Given the description of an element on the screen output the (x, y) to click on. 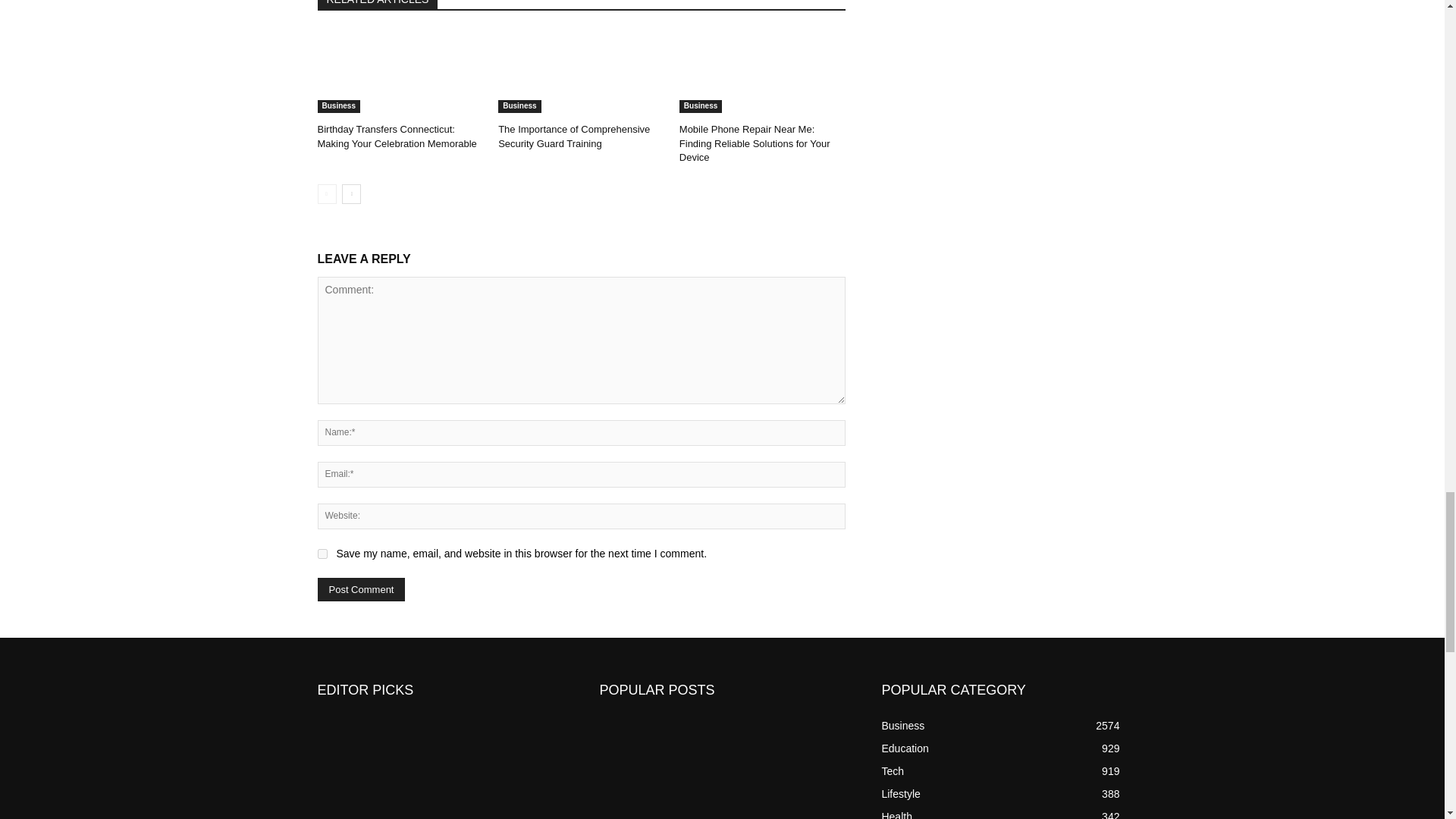
yes (321, 553)
Post Comment (360, 589)
